Given the description of an element on the screen output the (x, y) to click on. 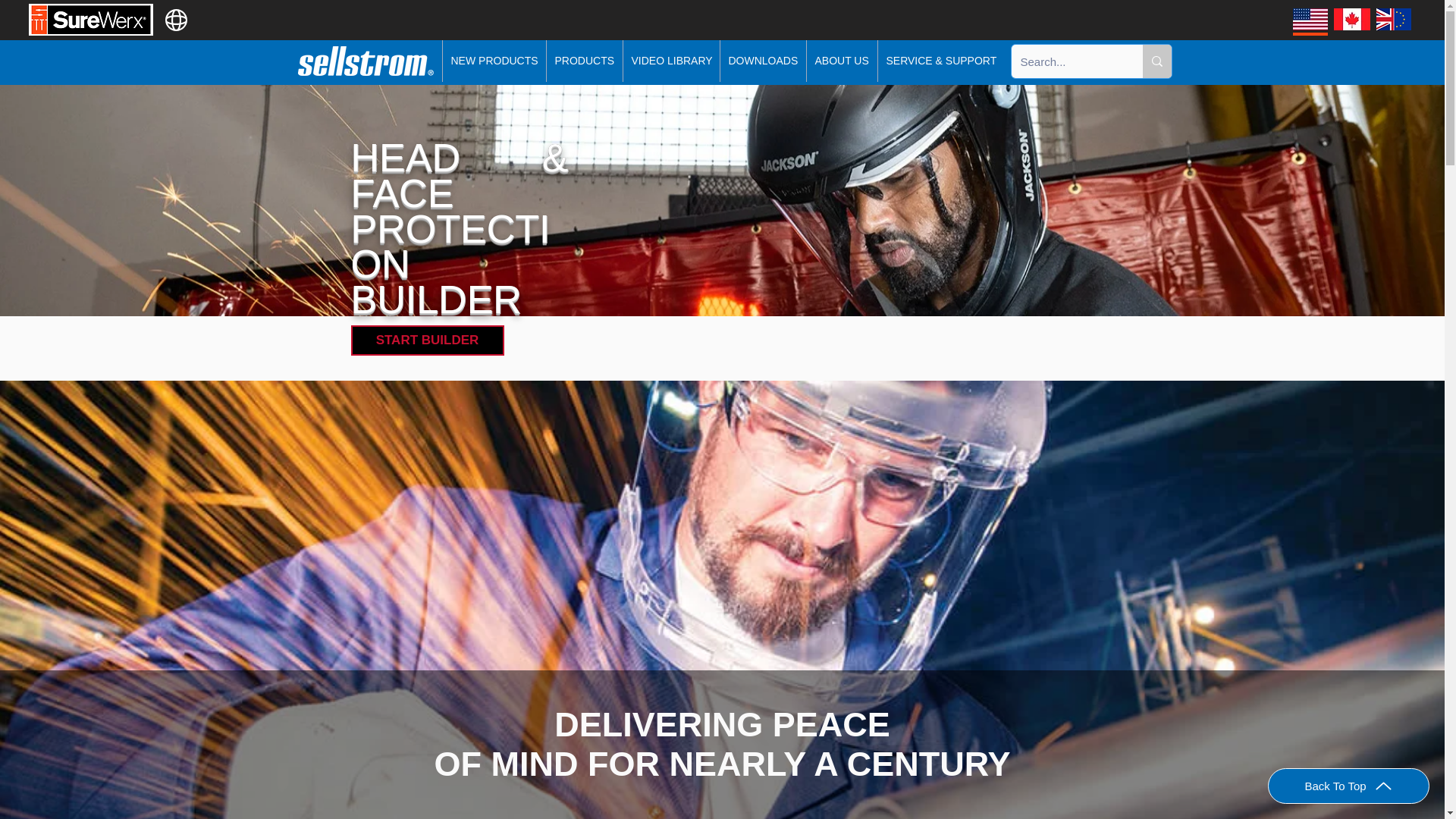
USflag.jpg (1309, 19)
DOWNLOADS (762, 60)
ABOUT US (840, 60)
VIDEO LIBRARY (670, 60)
NEW PRODUCTS (492, 60)
Europe.jpg (1392, 19)
START BUILDER (426, 340)
canada046.jpg (1351, 19)
